Given the description of an element on the screen output the (x, y) to click on. 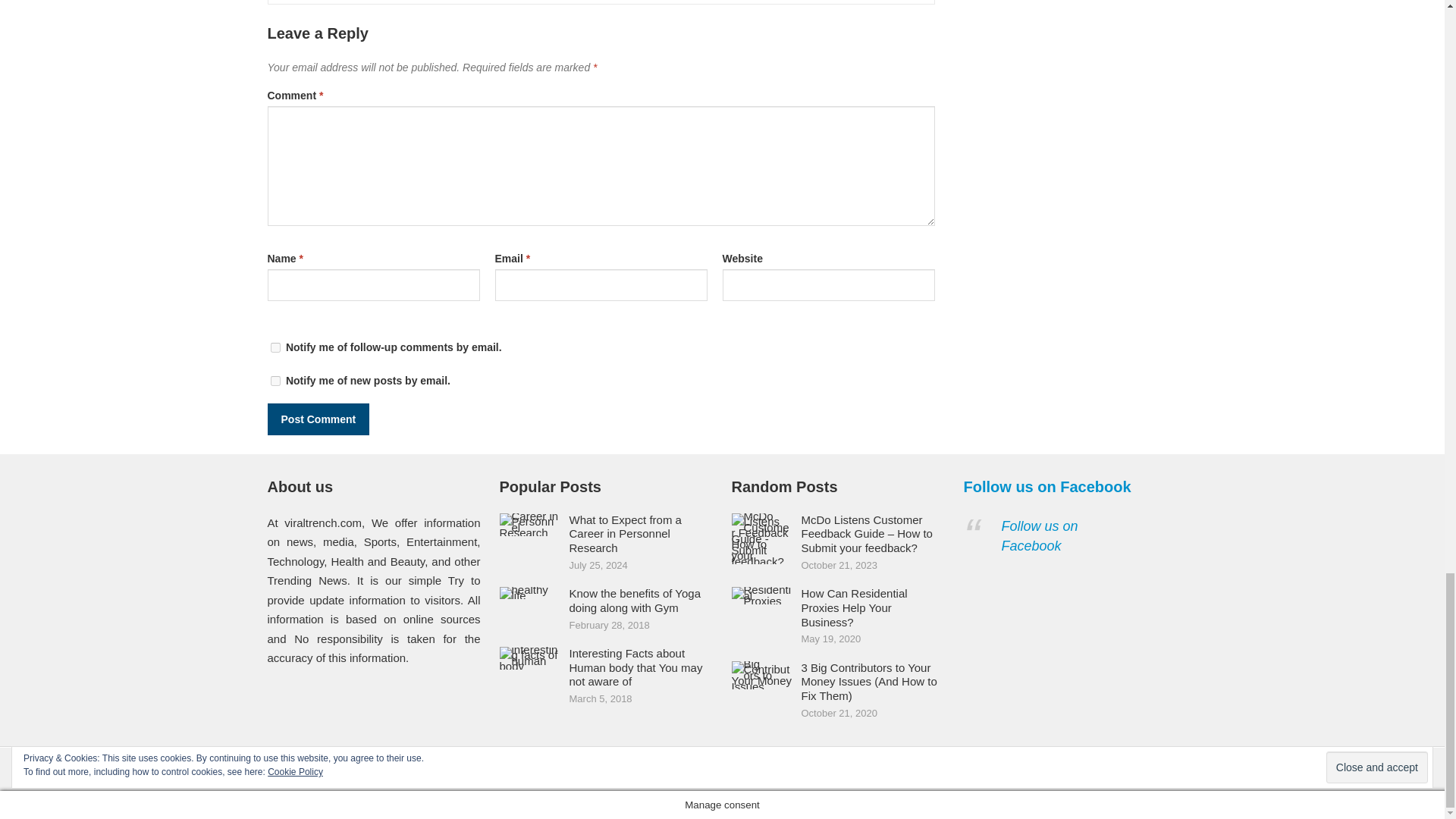
Post Comment (317, 418)
subscribe (274, 380)
subscribe (274, 347)
